Given the description of an element on the screen output the (x, y) to click on. 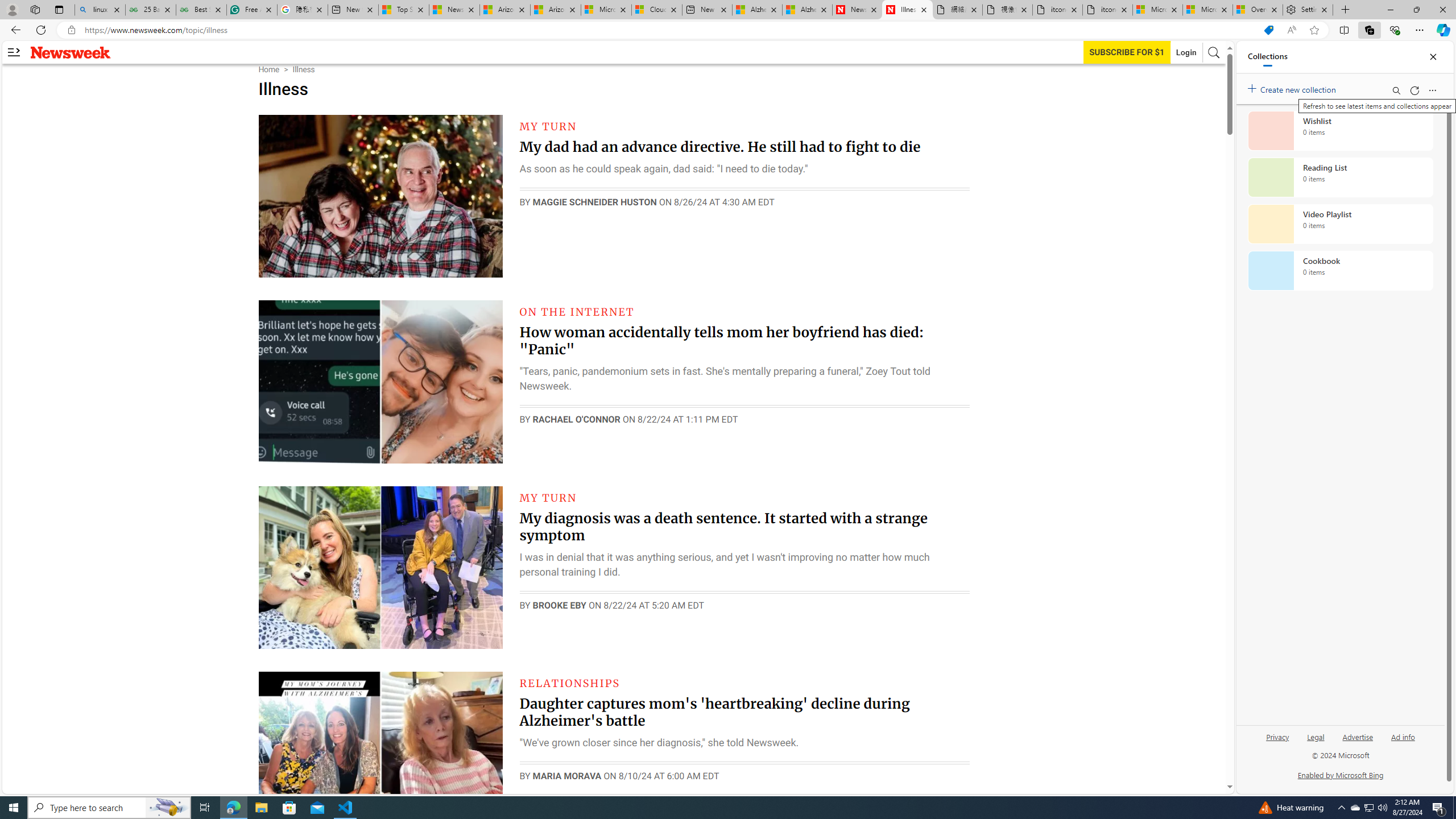
itconcepthk.com/projector_solutions.mp4 (1107, 9)
News - MSN (453, 9)
Microsoft Services Agreement (606, 9)
Ad info (1402, 741)
Top Stories - MSN (403, 9)
AutomationID: side-arrow (13, 51)
Microsoft account | Privacy (1207, 9)
Best SSL Certificates Provider in India - GeeksforGeeks (201, 9)
